Given the description of an element on the screen output the (x, y) to click on. 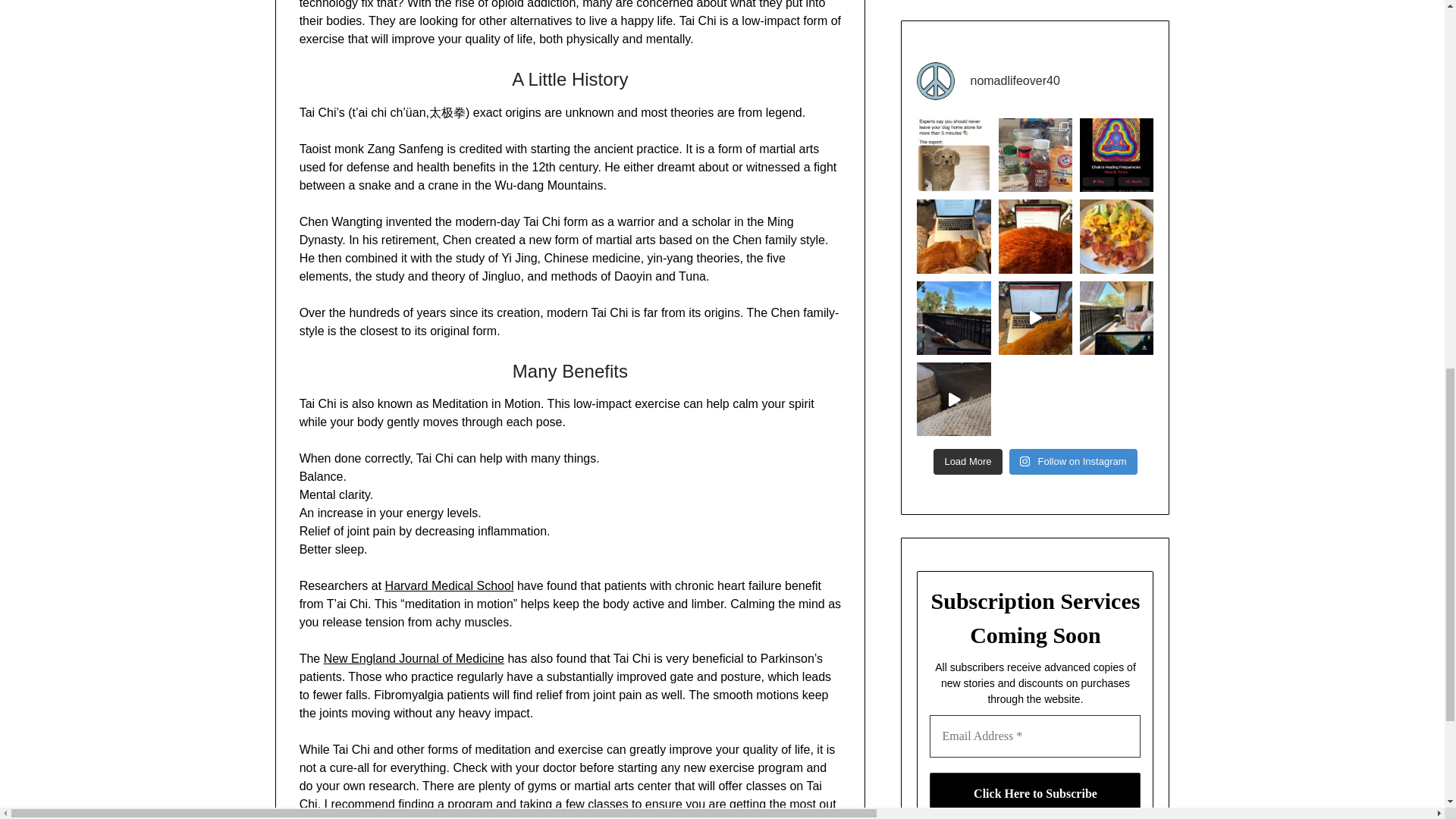
Follow on Instagram (1073, 461)
Email Address (1035, 735)
Click Here to Subscribe (1035, 793)
New England Journal of Medicine (413, 658)
Harvard Medical School (449, 585)
Click Here to Subscribe (1035, 793)
nomadlifeover40 (1035, 80)
Load More (967, 461)
